Given the description of an element on the screen output the (x, y) to click on. 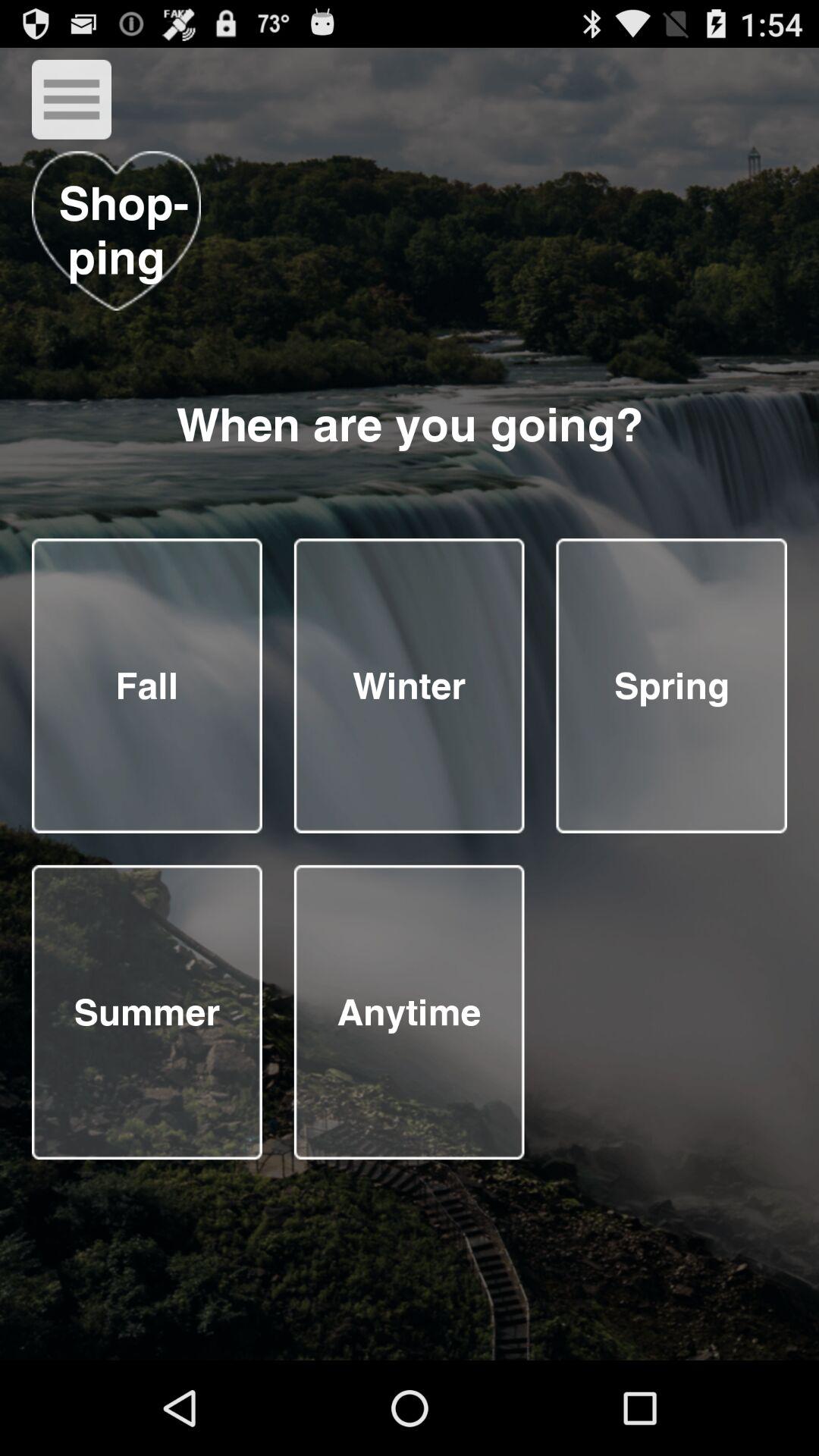
answer selection (146, 1012)
